Given the description of an element on the screen output the (x, y) to click on. 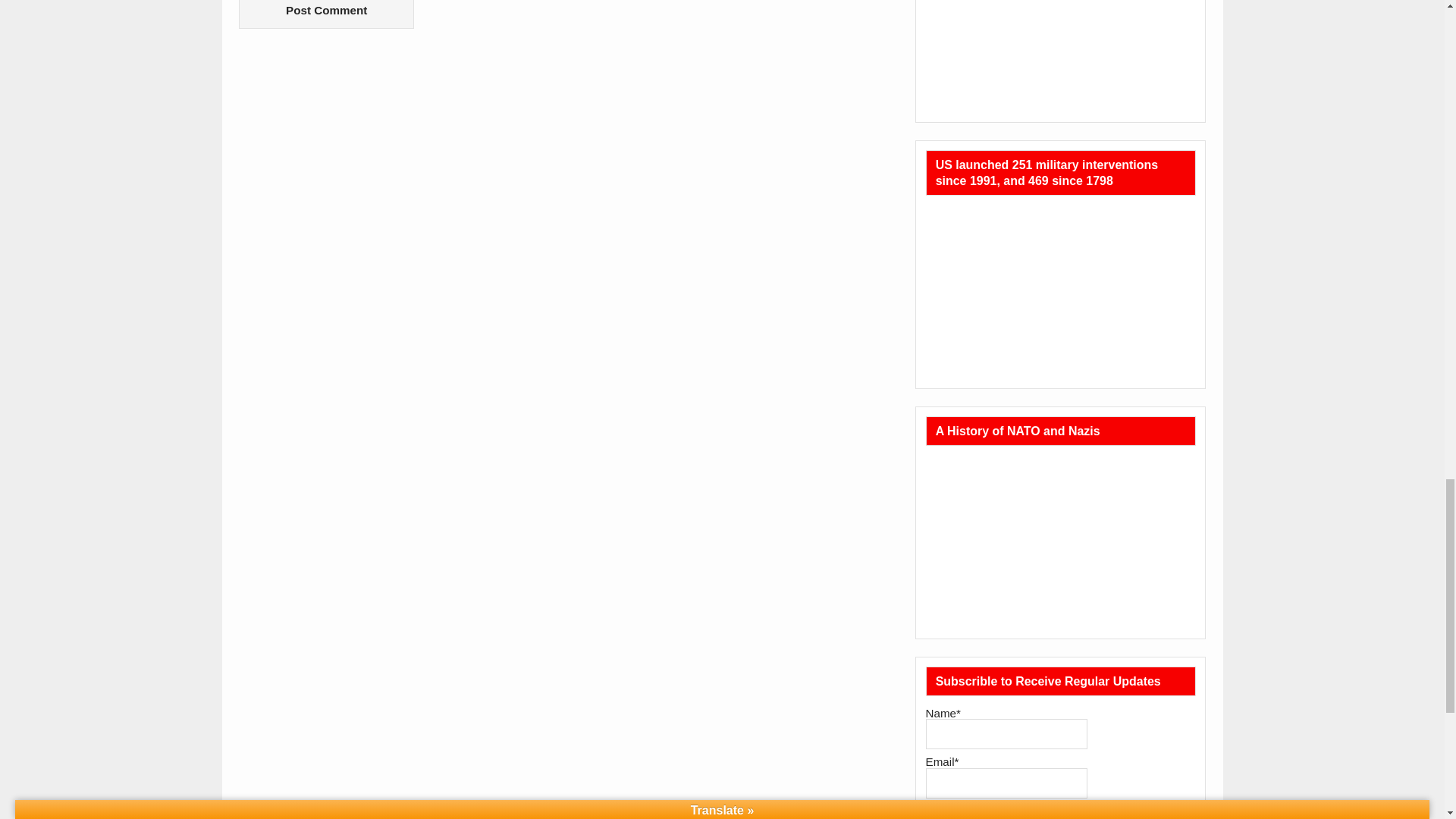
Subscribe (961, 812)
Subscribe (961, 812)
Post Comment (325, 13)
Post Comment (325, 13)
